Given the description of an element on the screen output the (x, y) to click on. 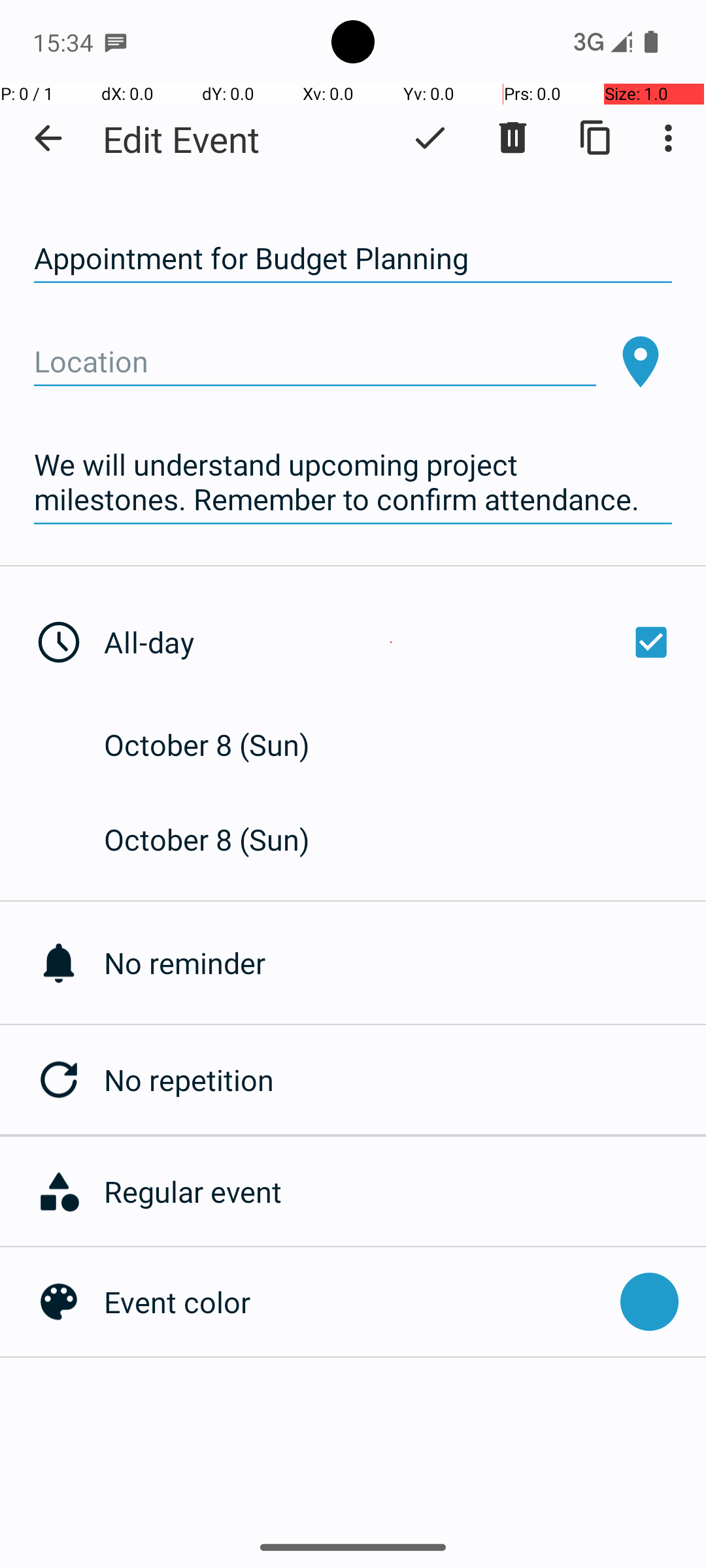
Edit Event Element type: android.widget.TextView (181, 138)
Duplicate event Element type: android.widget.Button (595, 137)
Appointment for Budget Planning Element type: android.widget.EditText (352, 258)
Location Element type: android.widget.EditText (314, 361)
We will understand upcoming project milestones. Remember to confirm attendance. Element type: android.widget.EditText (352, 482)
October 8 (Sun) Element type: android.widget.TextView (220, 744)
No reminder Element type: android.widget.TextView (404, 962)
No repetition Element type: android.widget.TextView (404, 1079)
All-day Element type: android.widget.CheckBox (390, 642)
Regular event Element type: android.widget.TextView (397, 1191)
Event color Element type: android.widget.TextView (354, 1301)
